Given the description of an element on the screen output the (x, y) to click on. 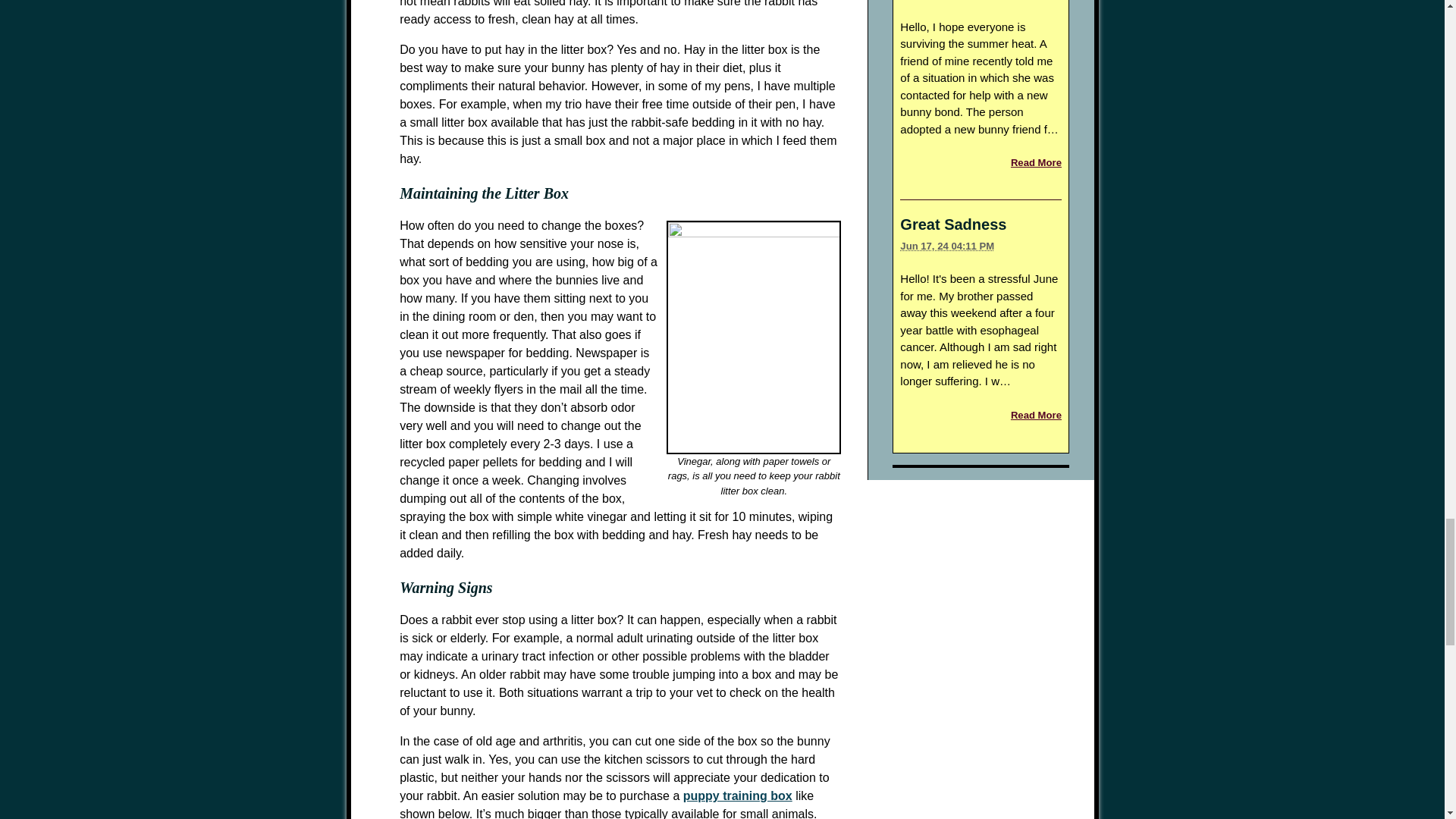
puppy training box (737, 795)
2024-06-17T16:11:27-0400 (946, 245)
